Given the description of an element on the screen output the (x, y) to click on. 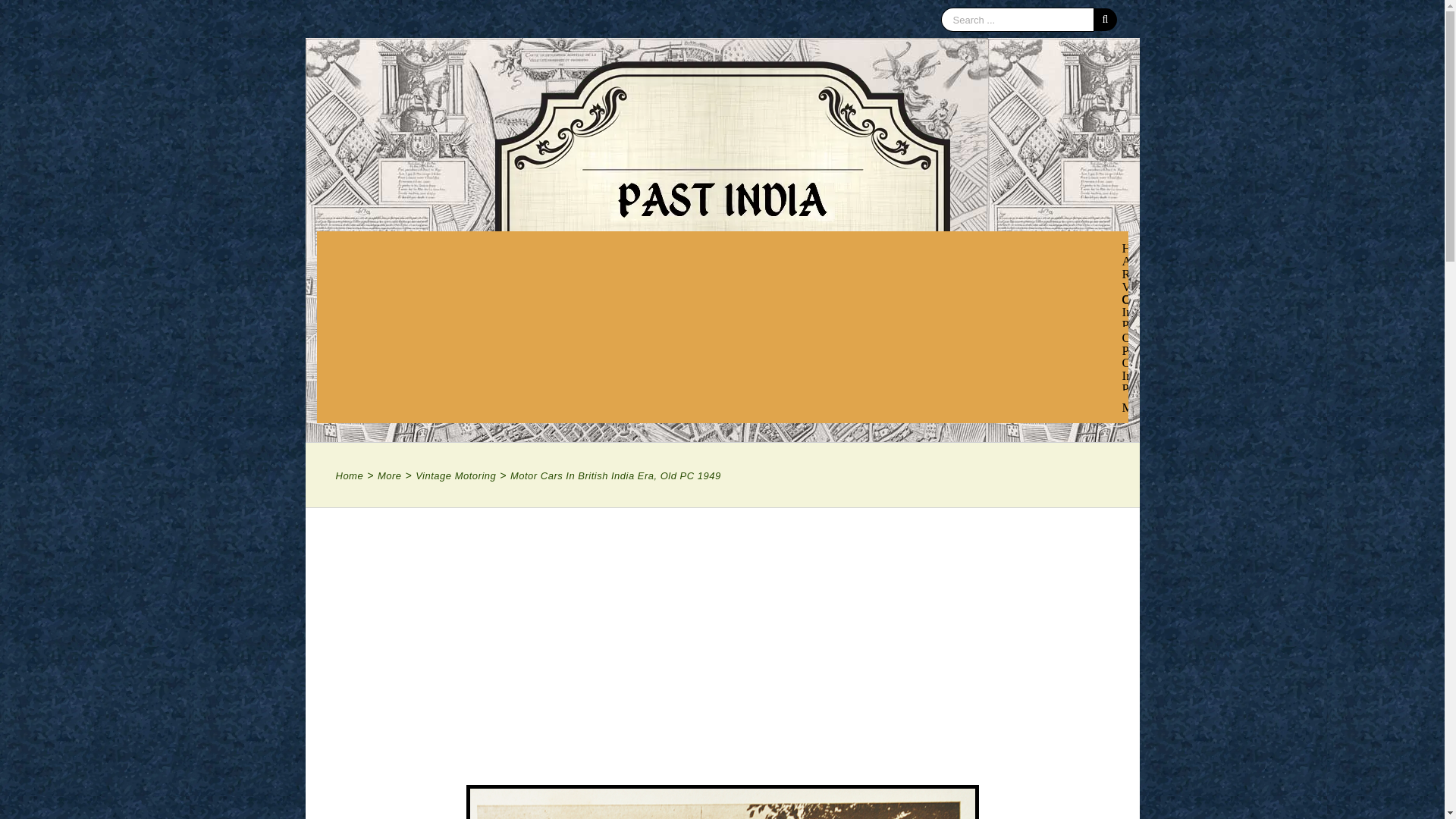
Old India Postcards (1152, 342)
Home (1138, 246)
Motor Cars In British India Era, Old PC 1949 (721, 801)
Old India Prints (1142, 374)
More (1141, 406)
Old India Photos (1145, 310)
